Given the description of an element on the screen output the (x, y) to click on. 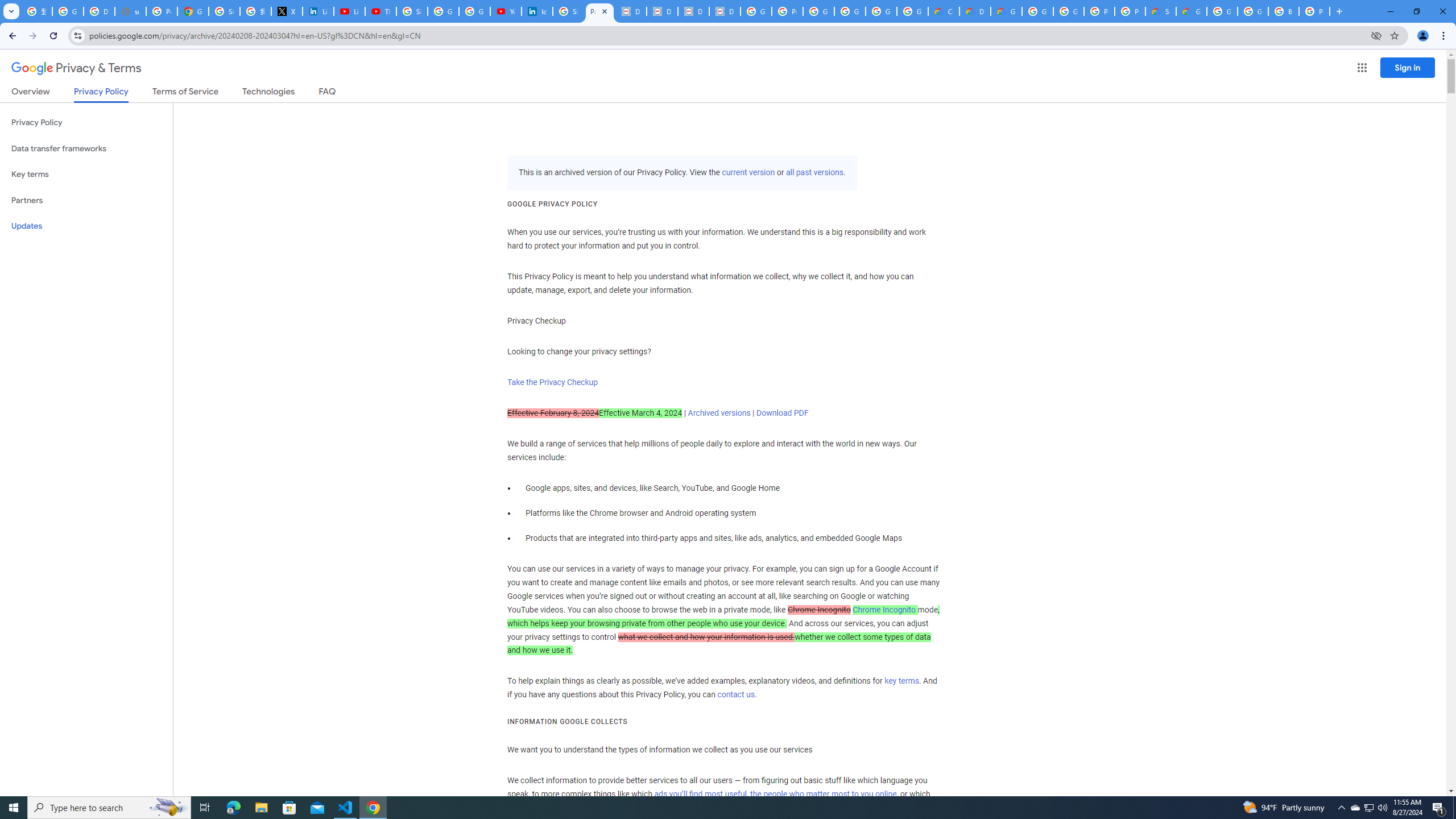
Google Cloud Platform (1037, 11)
Chrome Incognito (884, 609)
